Given the description of an element on the screen output the (x, y) to click on. 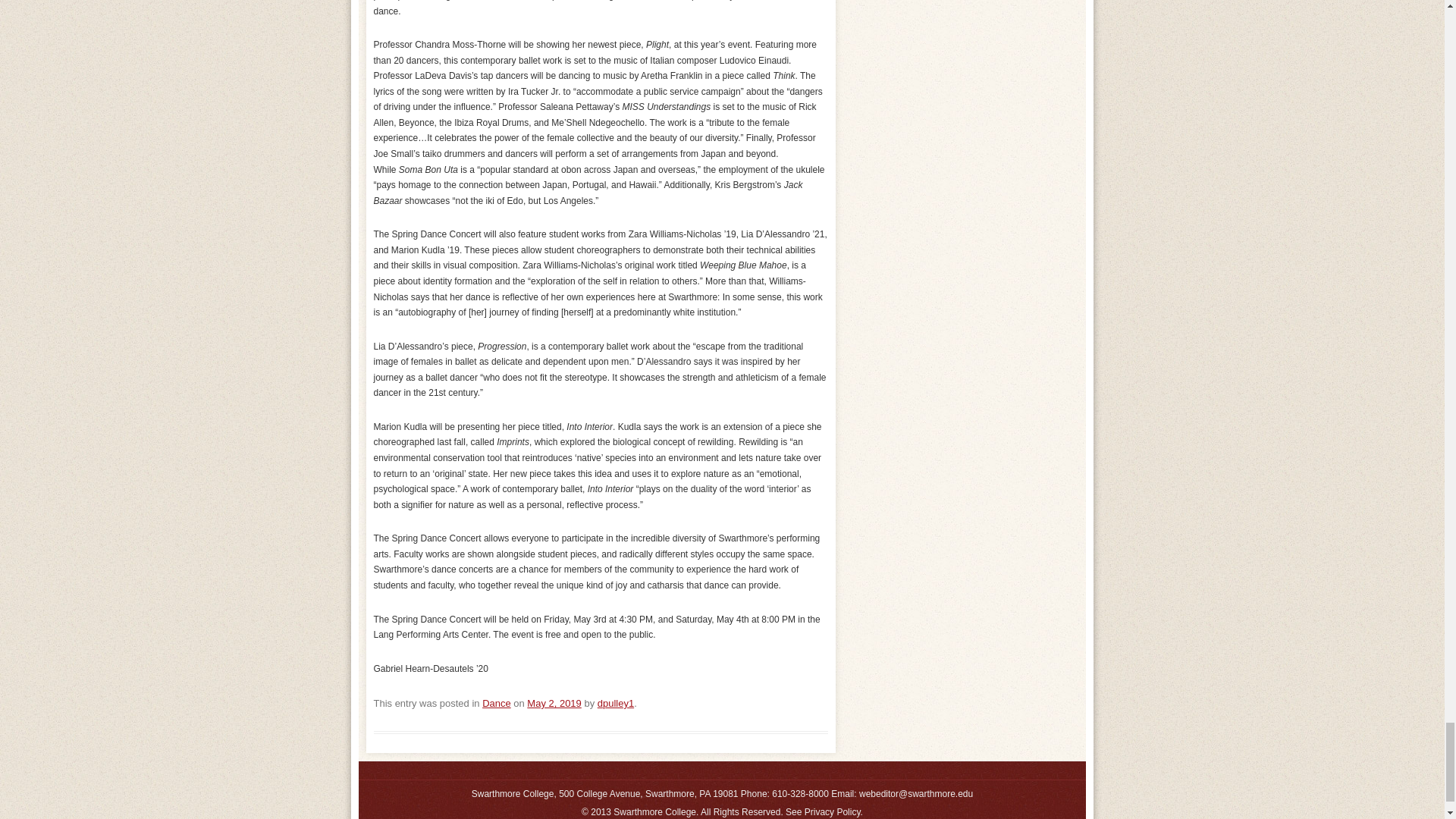
Dance (496, 703)
May 2, 2019 (553, 703)
dpulley1 (614, 703)
